Given the description of an element on the screen output the (x, y) to click on. 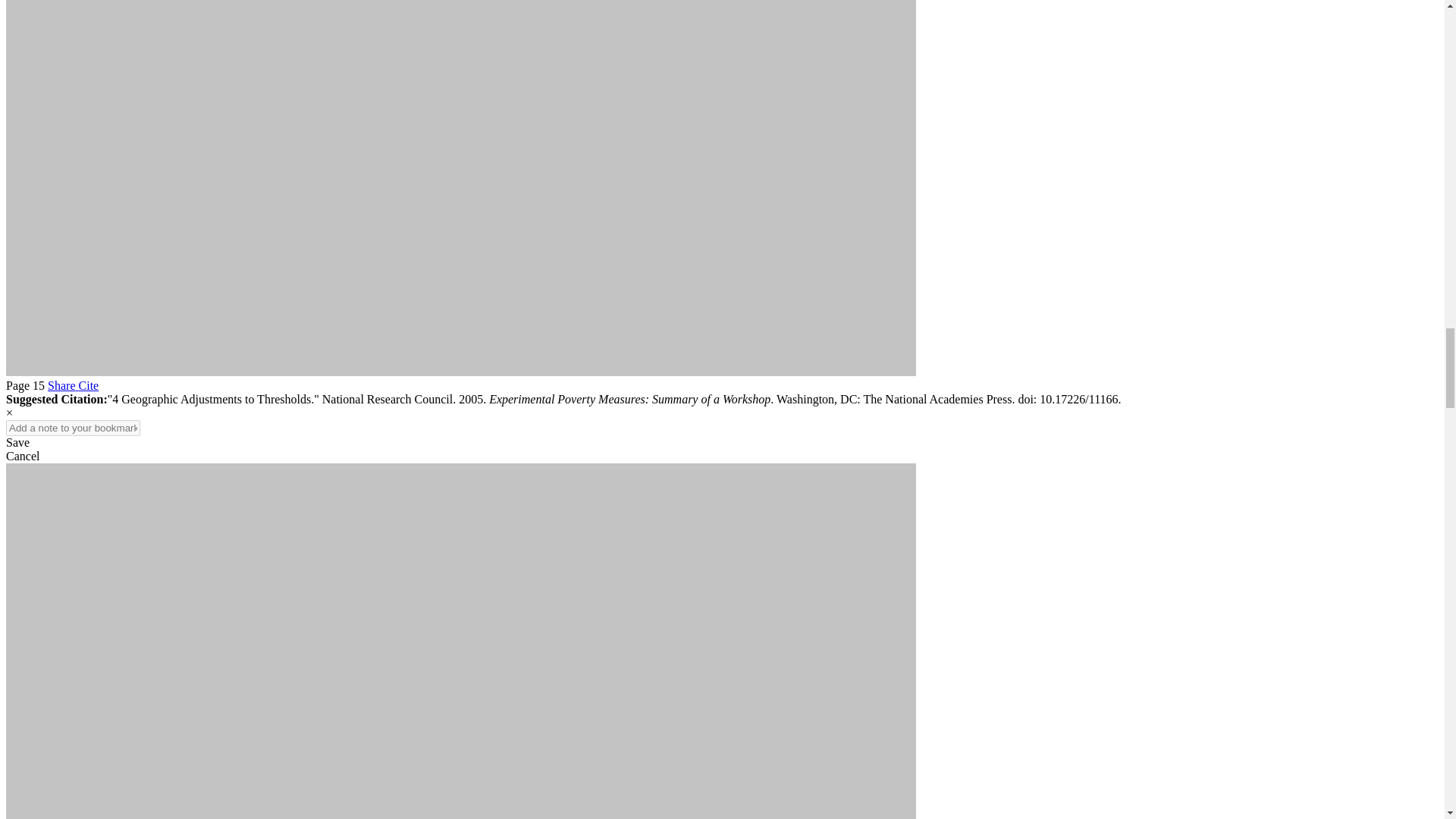
Cite this page (88, 385)
Share this page (63, 385)
